Given the description of an element on the screen output the (x, y) to click on. 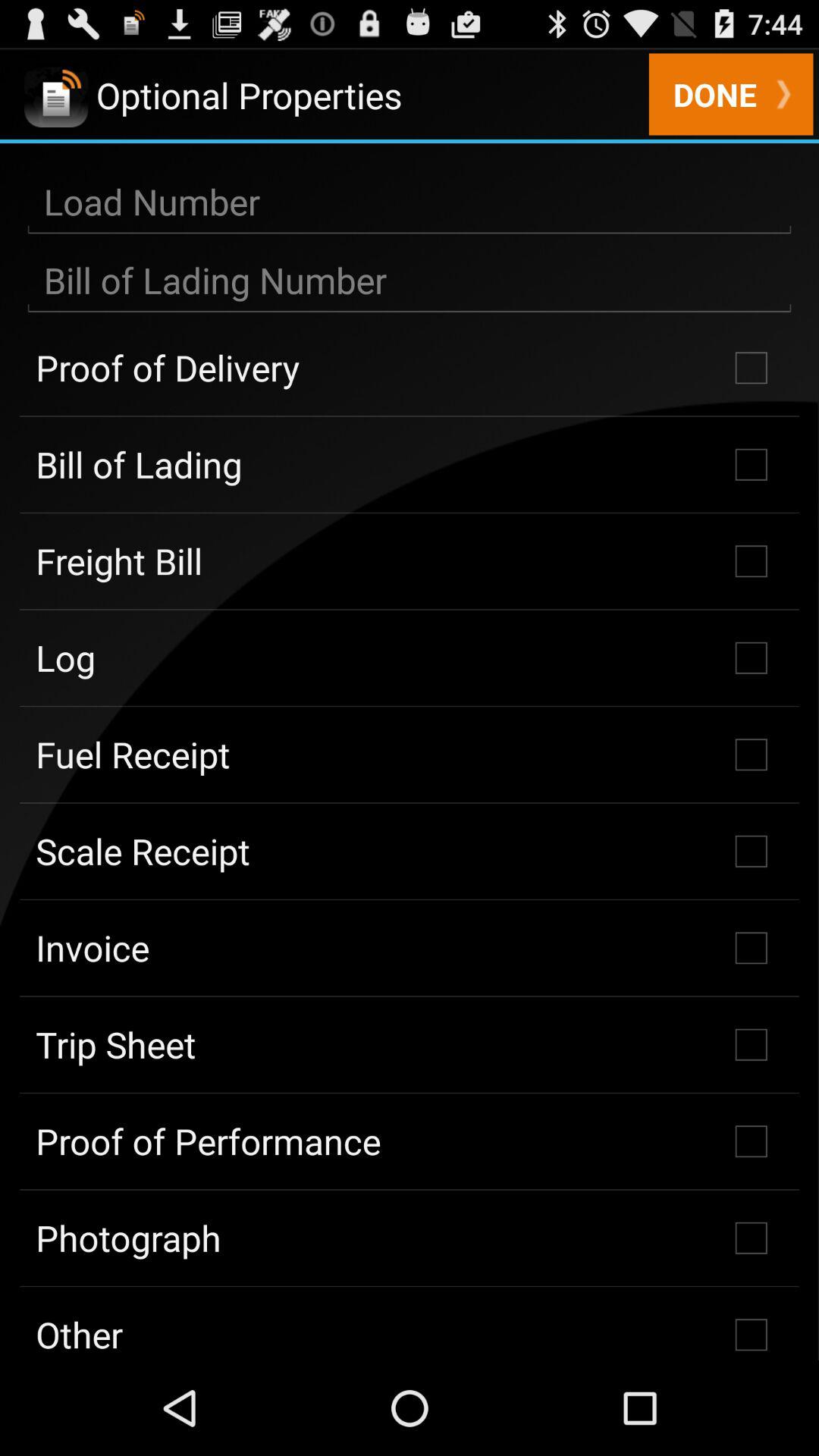
turn on the checkbox above the fuel receipt (409, 657)
